Given the description of an element on the screen output the (x, y) to click on. 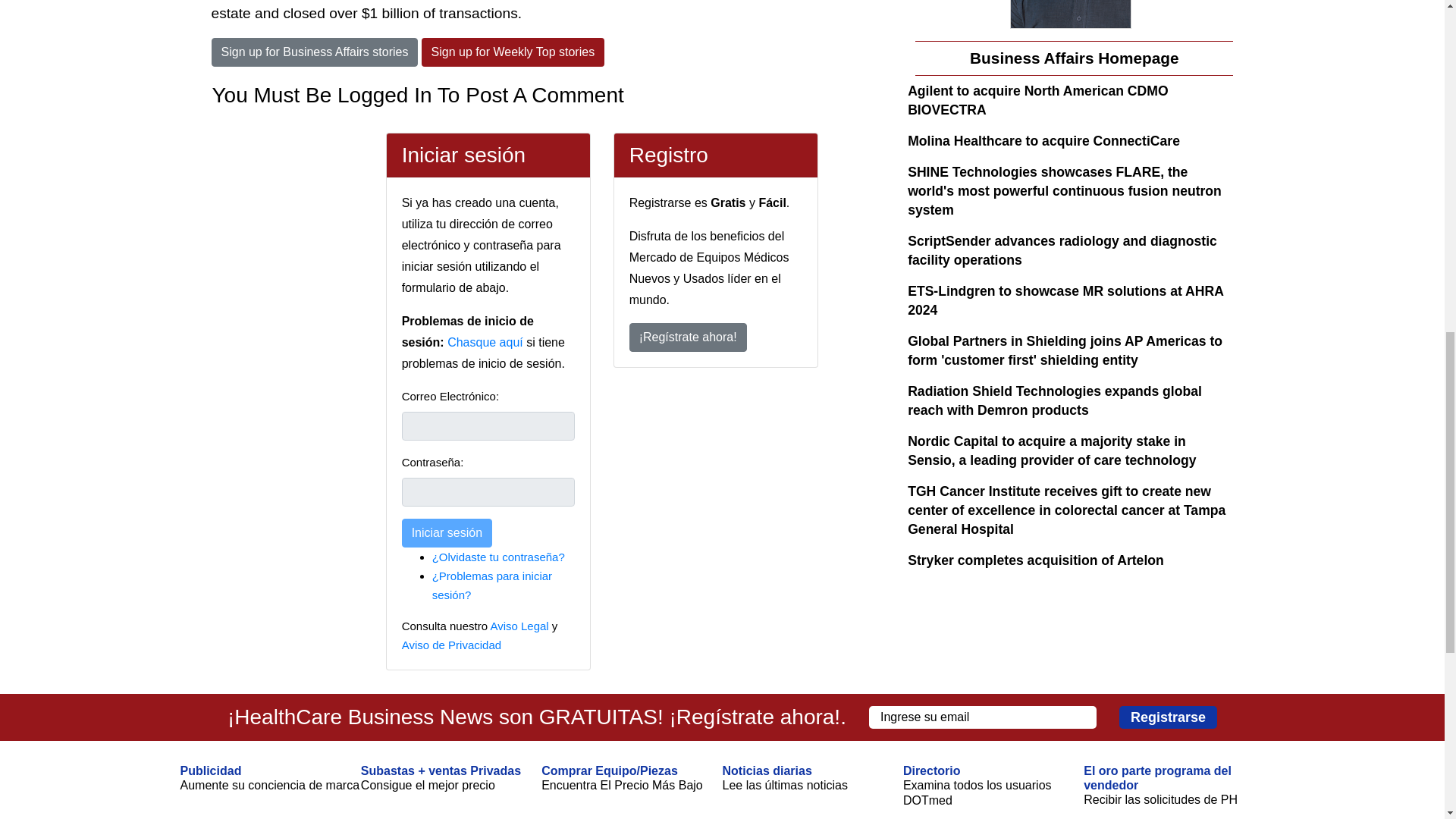
Register Now! (687, 337)
Forget your password? (498, 556)
Login Problems? (491, 585)
